Given the description of an element on the screen output the (x, y) to click on. 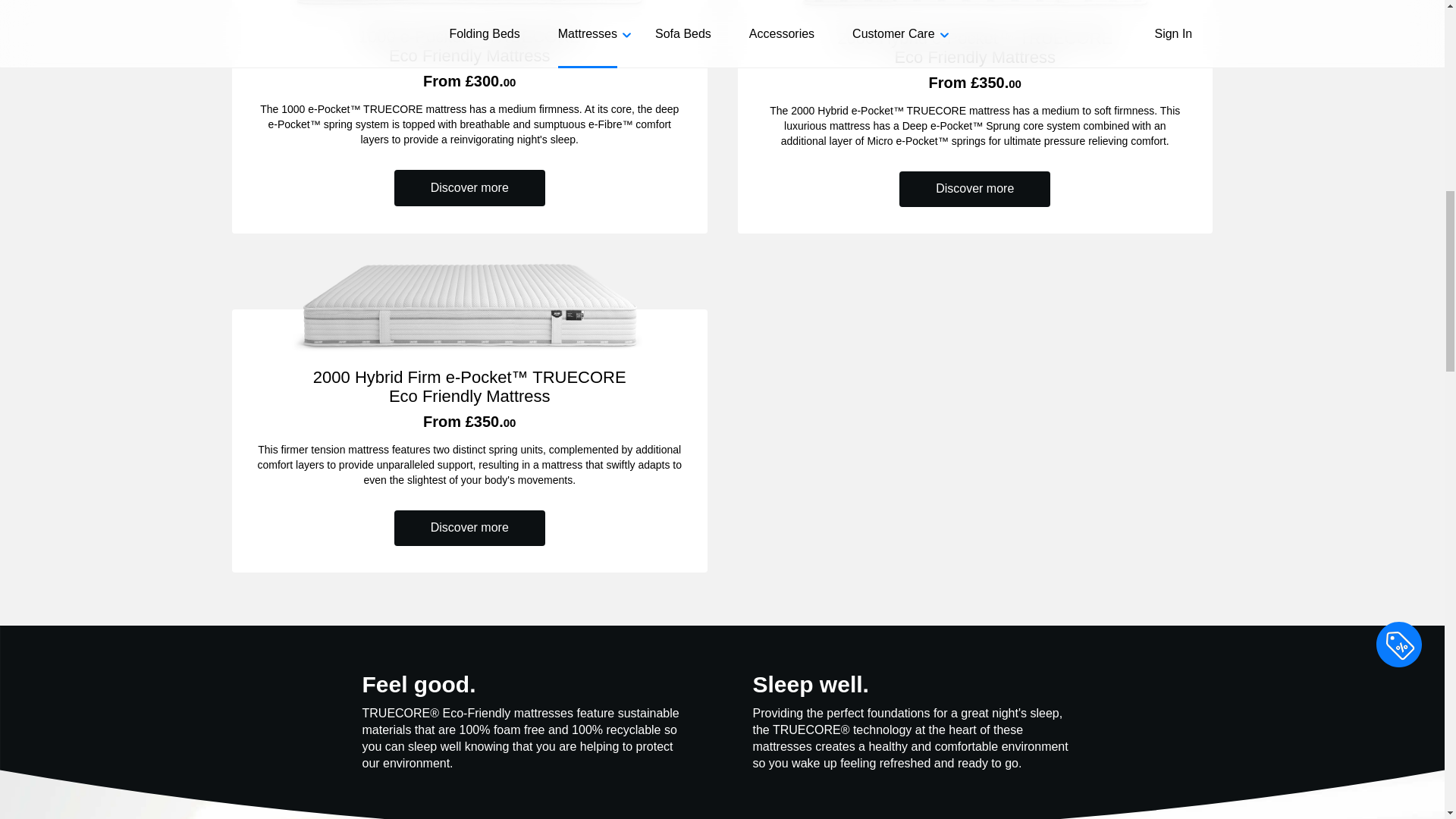
Discover more (469, 187)
Discover more (469, 528)
Discover more (974, 189)
